Given the description of an element on the screen output the (x, y) to click on. 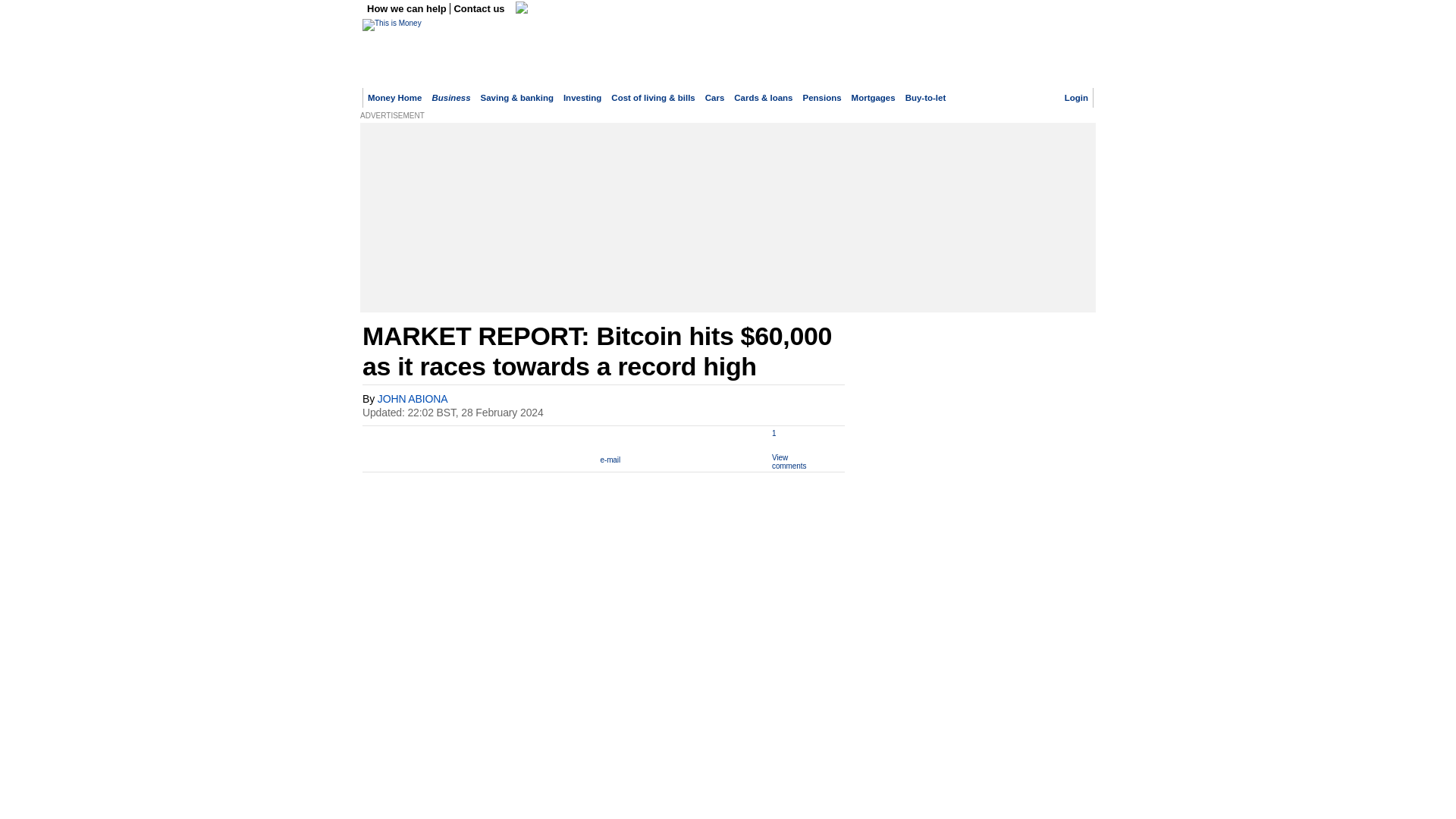
Mortgages (873, 97)
Login (1075, 97)
Contact us (479, 8)
Pensions (822, 97)
Investing (582, 97)
How we can help (407, 8)
Buy-to-let (925, 97)
Business (450, 97)
Money Home (395, 97)
Cars (714, 97)
